Given the description of an element on the screen output the (x, y) to click on. 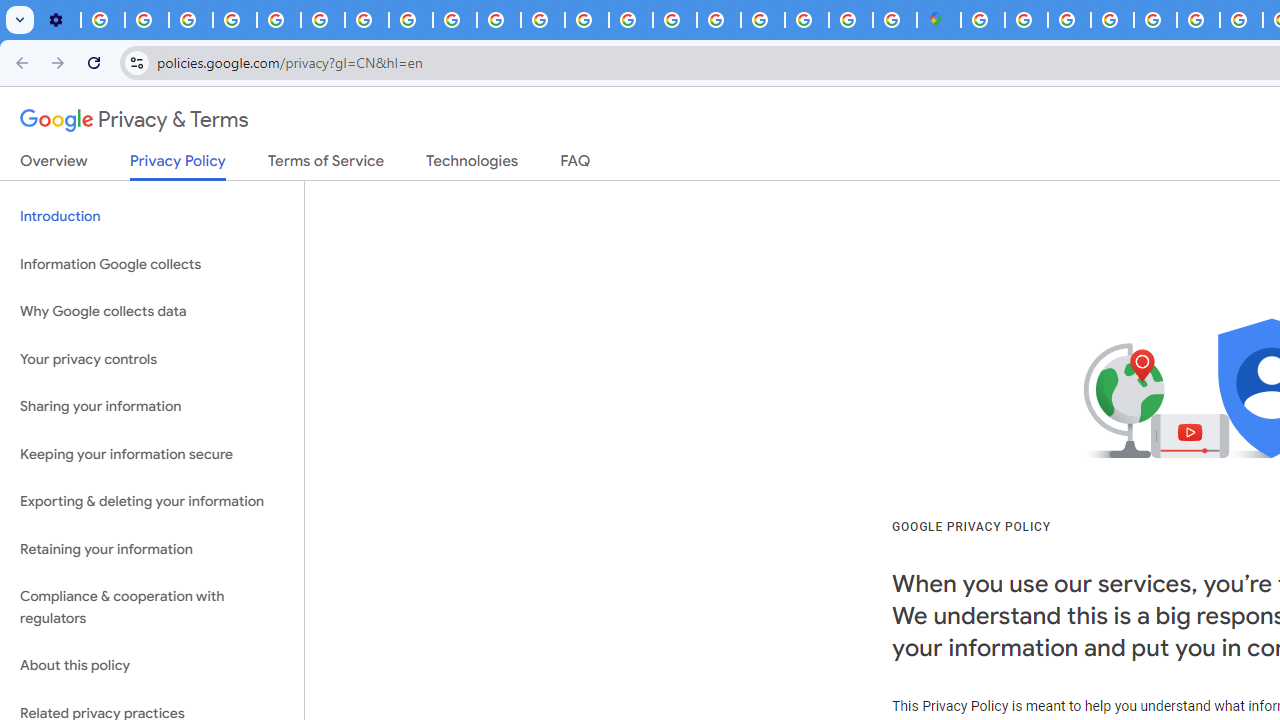
Privacy Checkup (498, 20)
Privacy Help Center - Policies Help (278, 20)
Settings - Customize profile (58, 20)
Privacy Help Center - Policies Help (1197, 20)
Privacy Help Center - Policies Help (586, 20)
Privacy Checkup (454, 20)
